Given the description of an element on the screen output the (x, y) to click on. 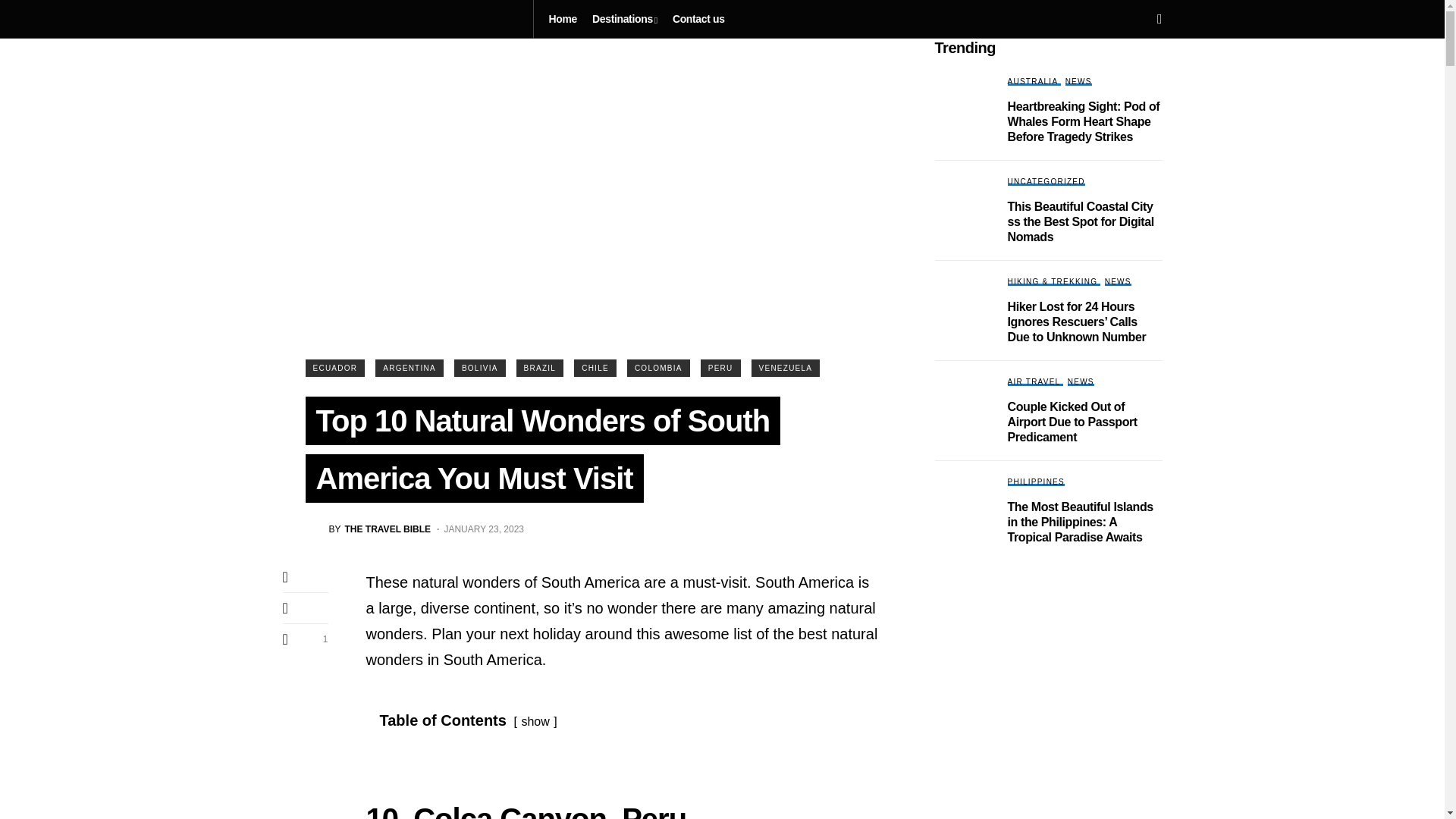
View all posts by The Travel Bible (367, 528)
